Given the description of an element on the screen output the (x, y) to click on. 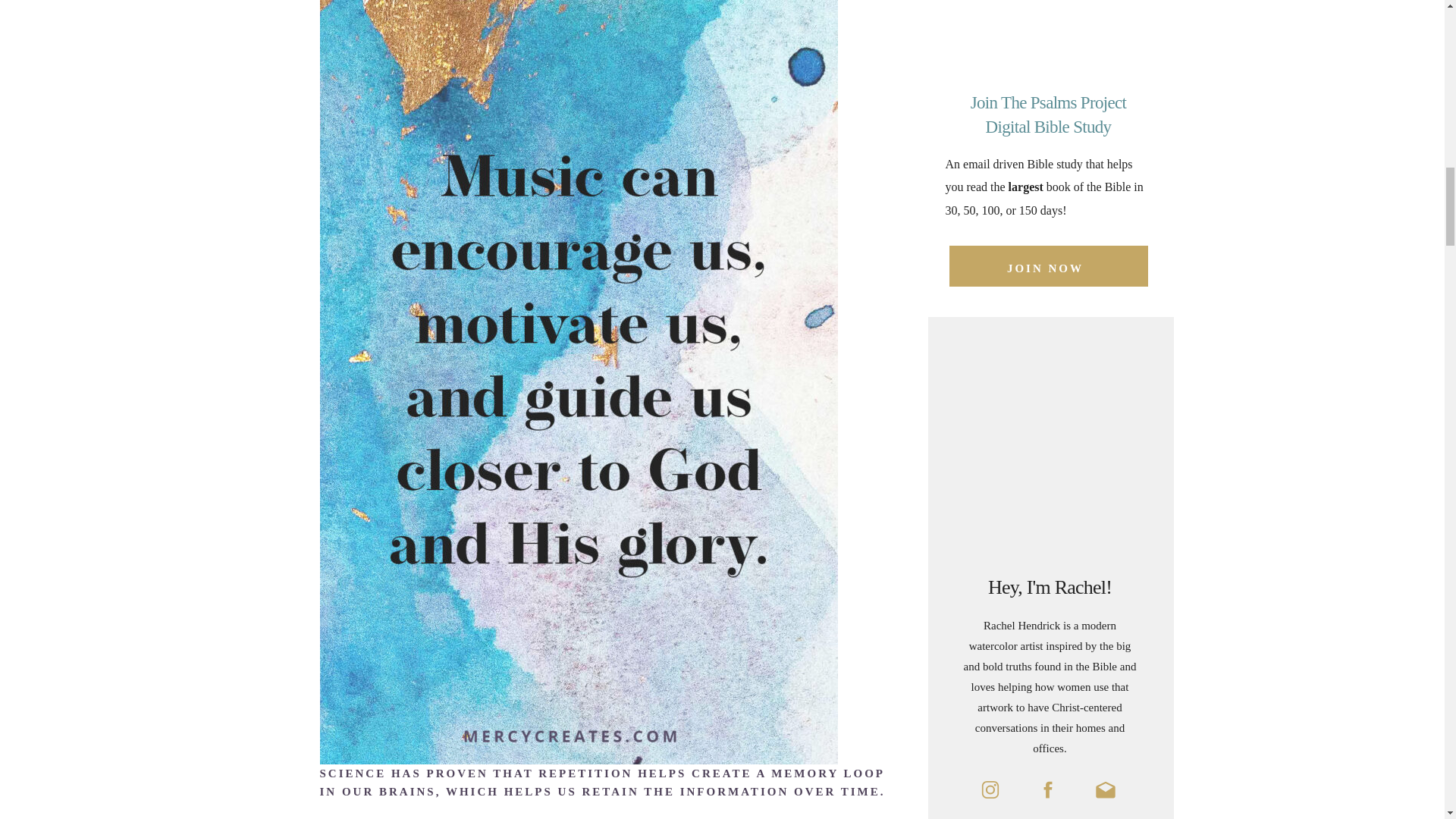
JOIN NOW (1044, 265)
